Given the description of an element on the screen output the (x, y) to click on. 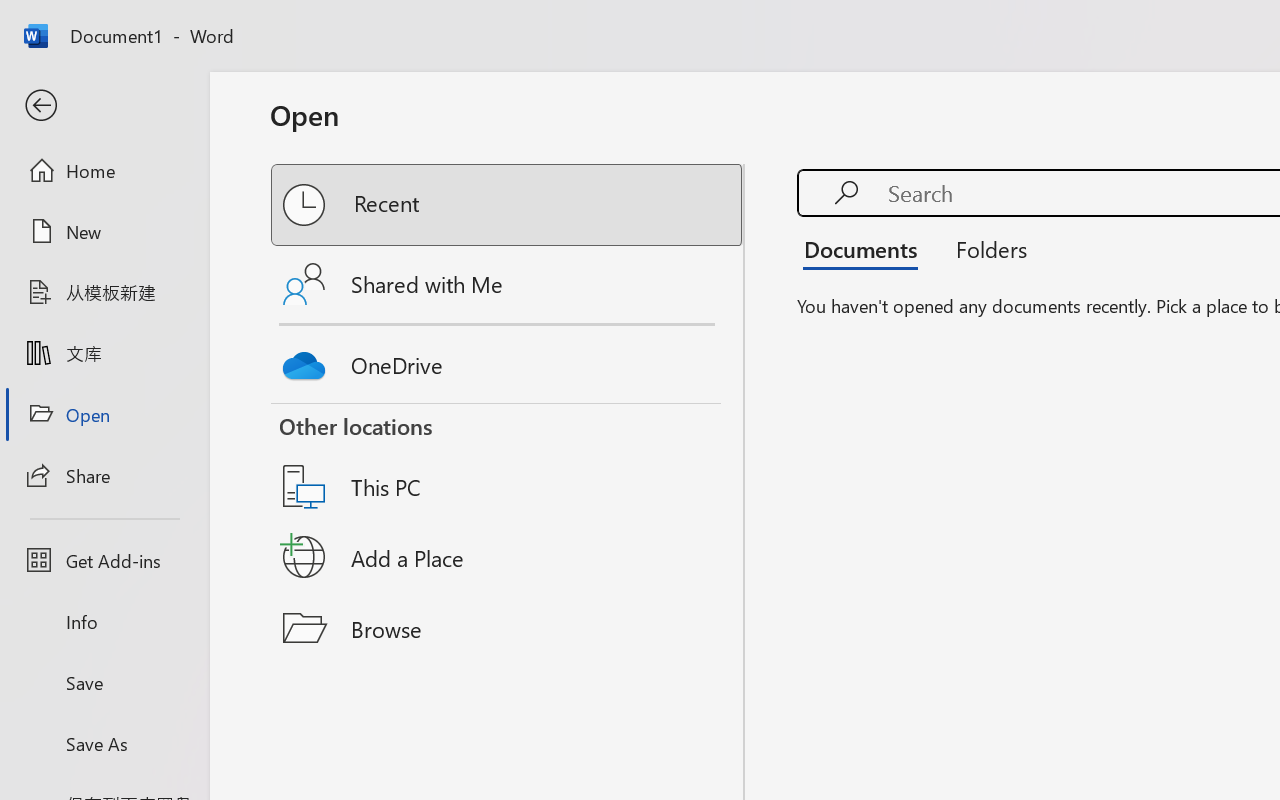
Add a Place (507, 557)
Documents (866, 248)
Back (104, 106)
This PC (507, 461)
Shared with Me (507, 283)
Get Add-ins (104, 560)
New (104, 231)
Recent (507, 205)
